Given the description of an element on the screen output the (x, y) to click on. 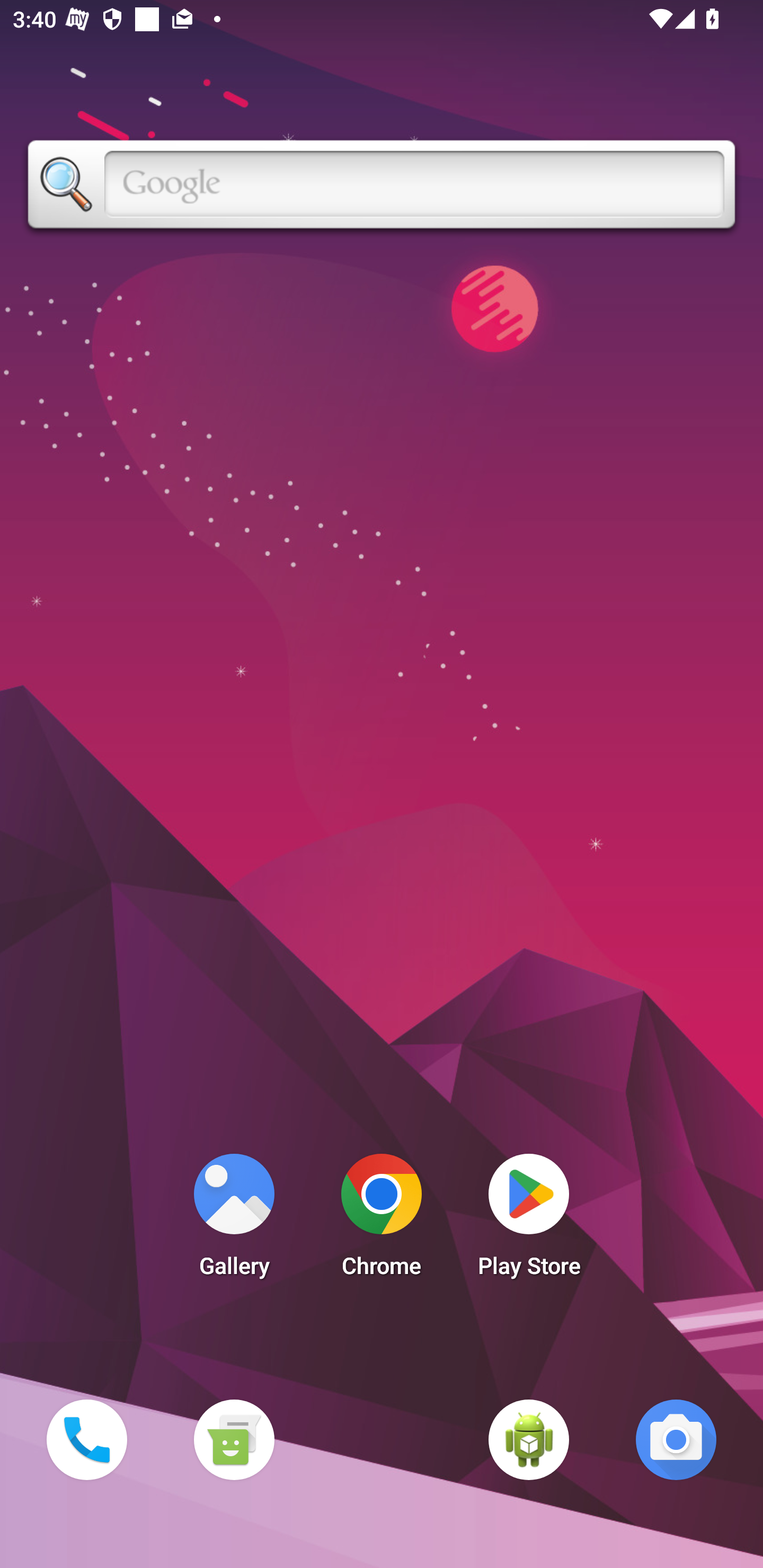
Gallery (233, 1220)
Chrome (381, 1220)
Play Store (528, 1220)
Phone (86, 1439)
Messaging (233, 1439)
WebView Browser Tester (528, 1439)
Camera (676, 1439)
